Given the description of an element on the screen output the (x, y) to click on. 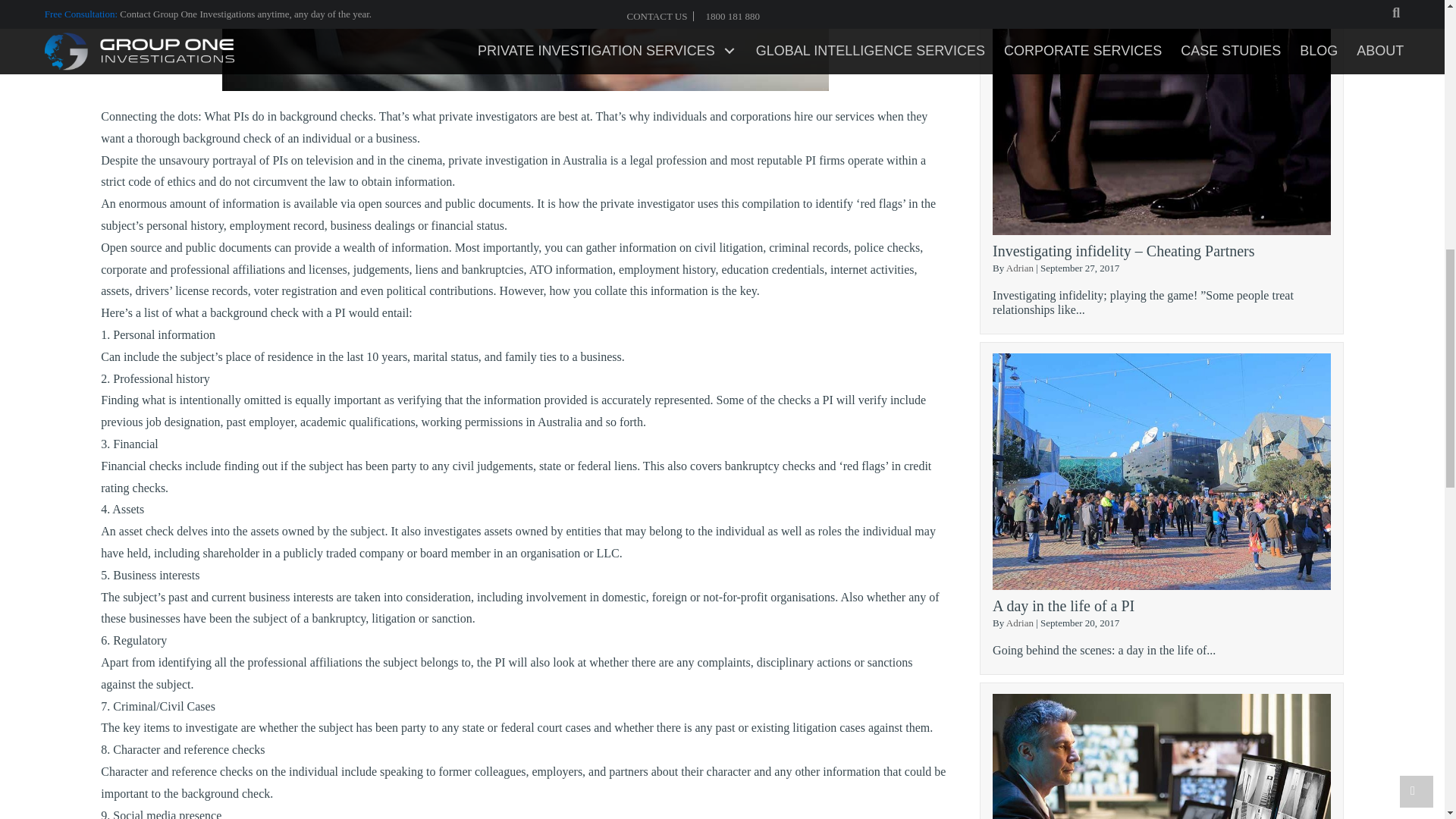
A day in the life of a PI (1063, 605)
investigating-infidelity (1161, 117)
a-day-in-the-life-of-a-pi (1161, 470)
intelligence-gaining-the-upper-hand (1161, 756)
connections-the-dots (525, 45)
